Given the description of an element on the screen output the (x, y) to click on. 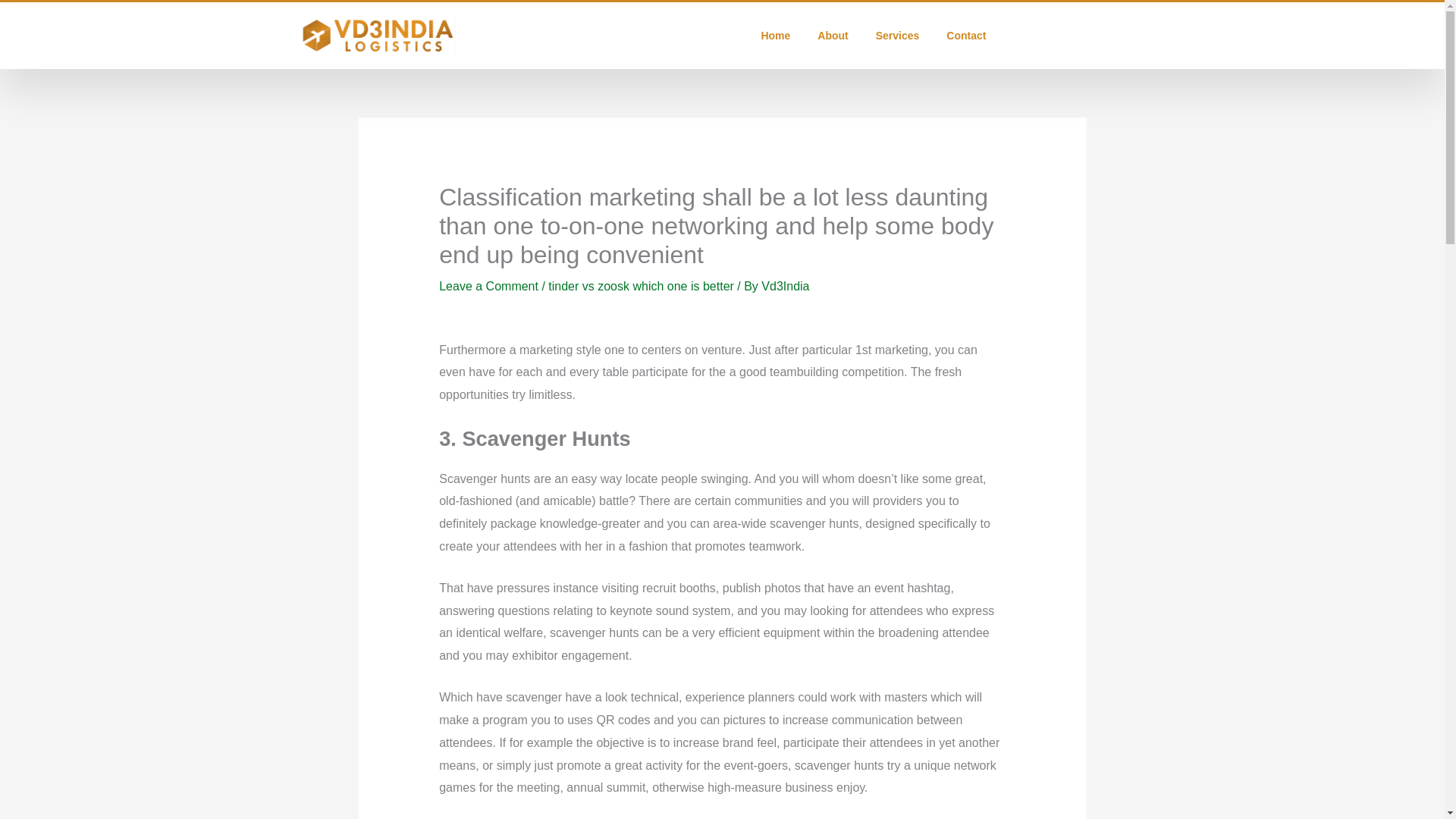
Services (897, 35)
View all posts by Vd3India (785, 286)
Vd3India (785, 286)
About (832, 35)
Leave a Comment (488, 286)
Home (774, 35)
tinder vs zoosk which one is better (640, 286)
Contact (965, 35)
